Given the description of an element on the screen output the (x, y) to click on. 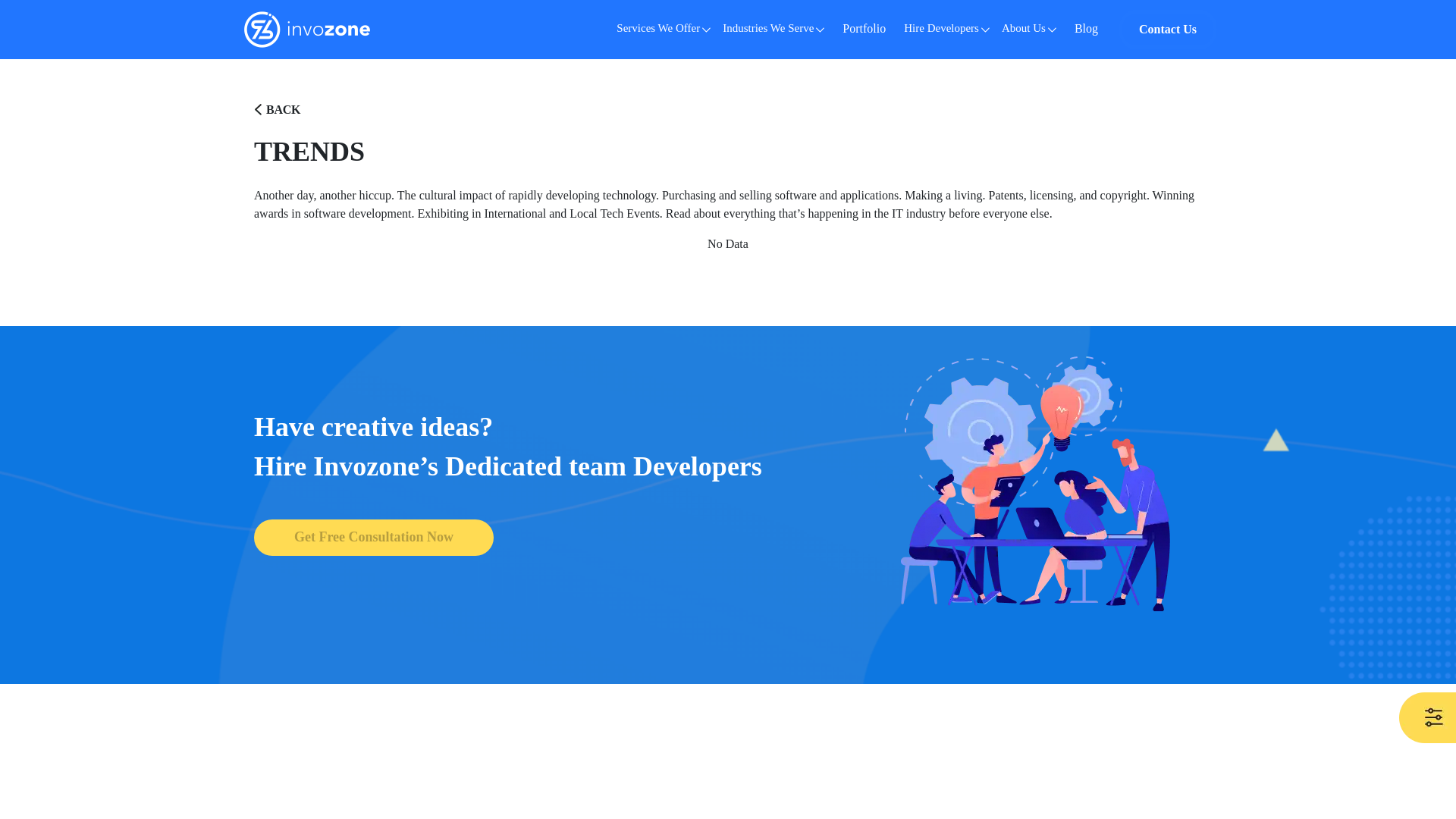
Contact Us (1167, 29)
About Us (1028, 28)
Blog (1085, 29)
Industries We Serve (772, 28)
Hire Developers (946, 28)
Portfolio (863, 29)
Services We Offer (663, 28)
Get Free Consultation Now (373, 537)
